Given the description of an element on the screen output the (x, y) to click on. 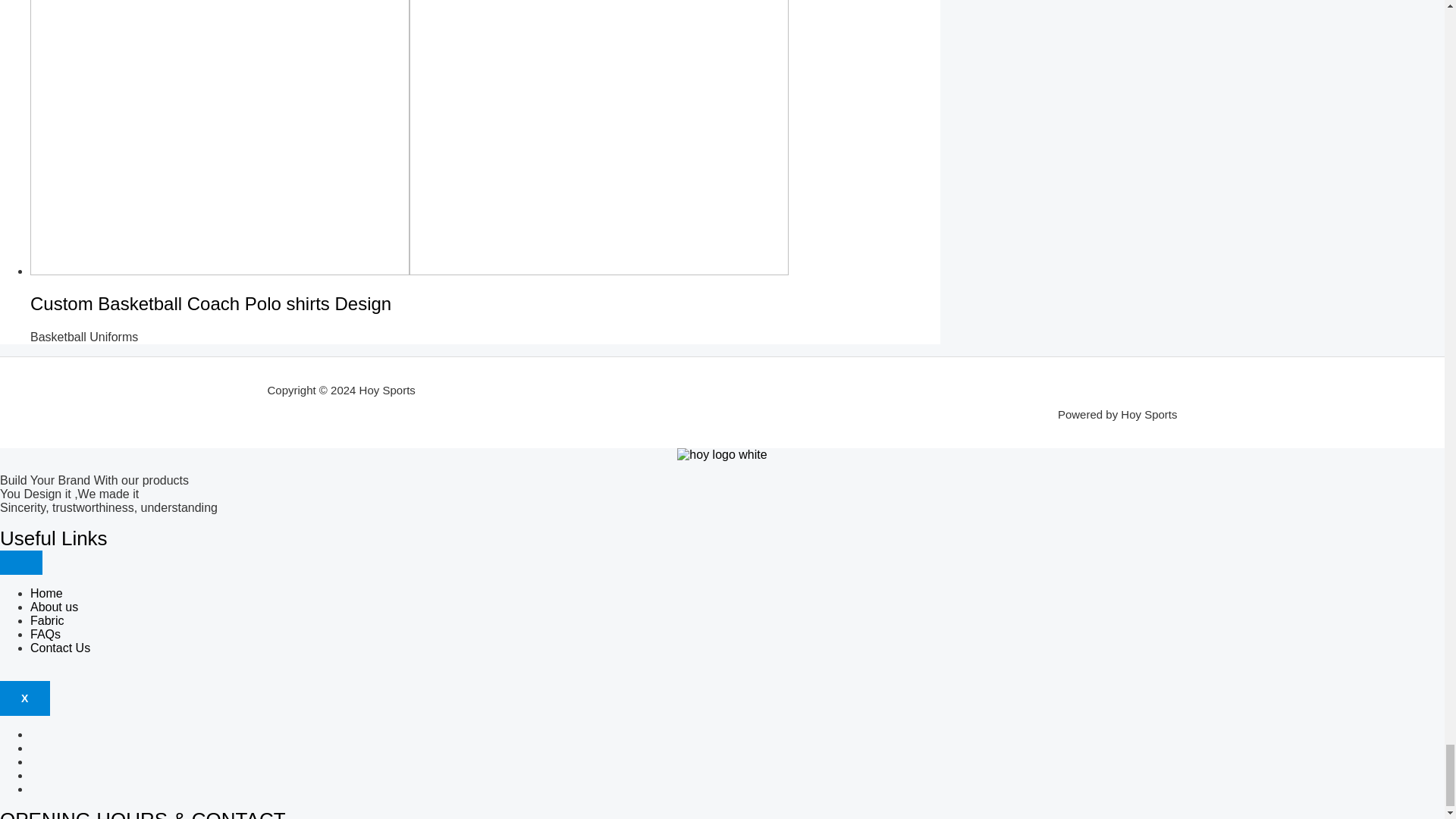
hoy logo white (722, 454)
